Given the description of an element on the screen output the (x, y) to click on. 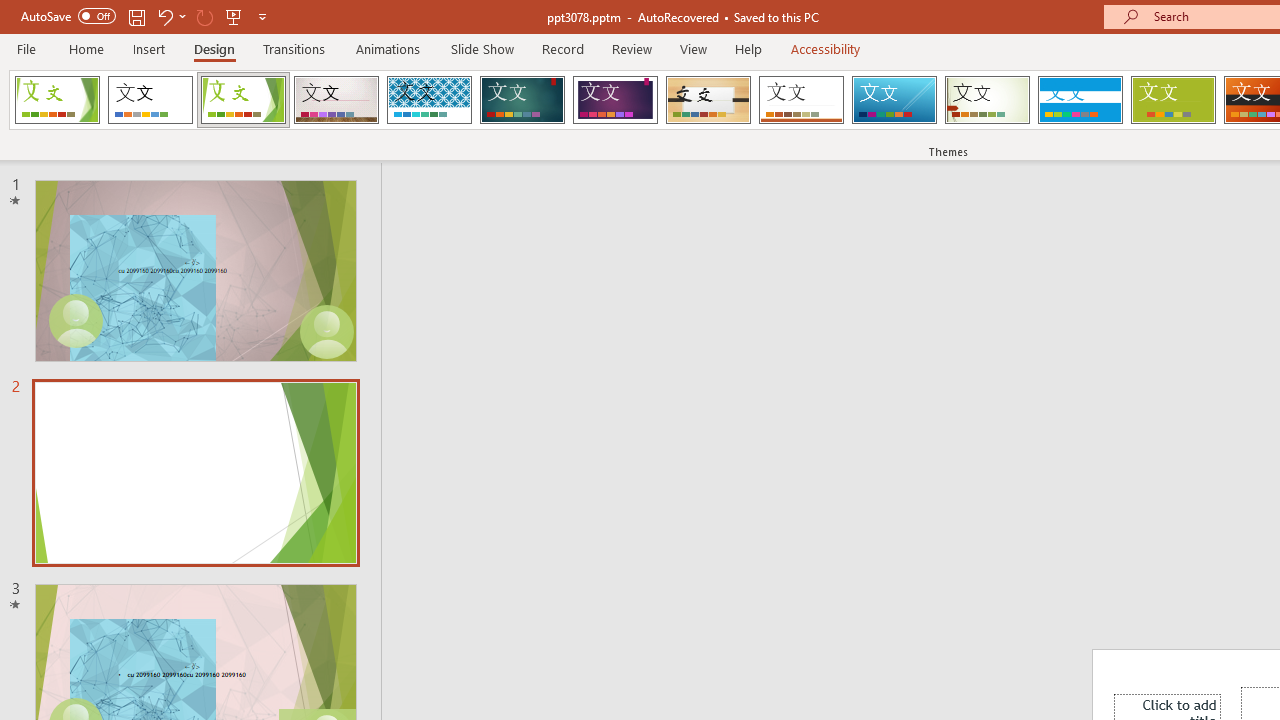
Ion Boardroom (615, 100)
Ion (522, 100)
